Given the description of an element on the screen output the (x, y) to click on. 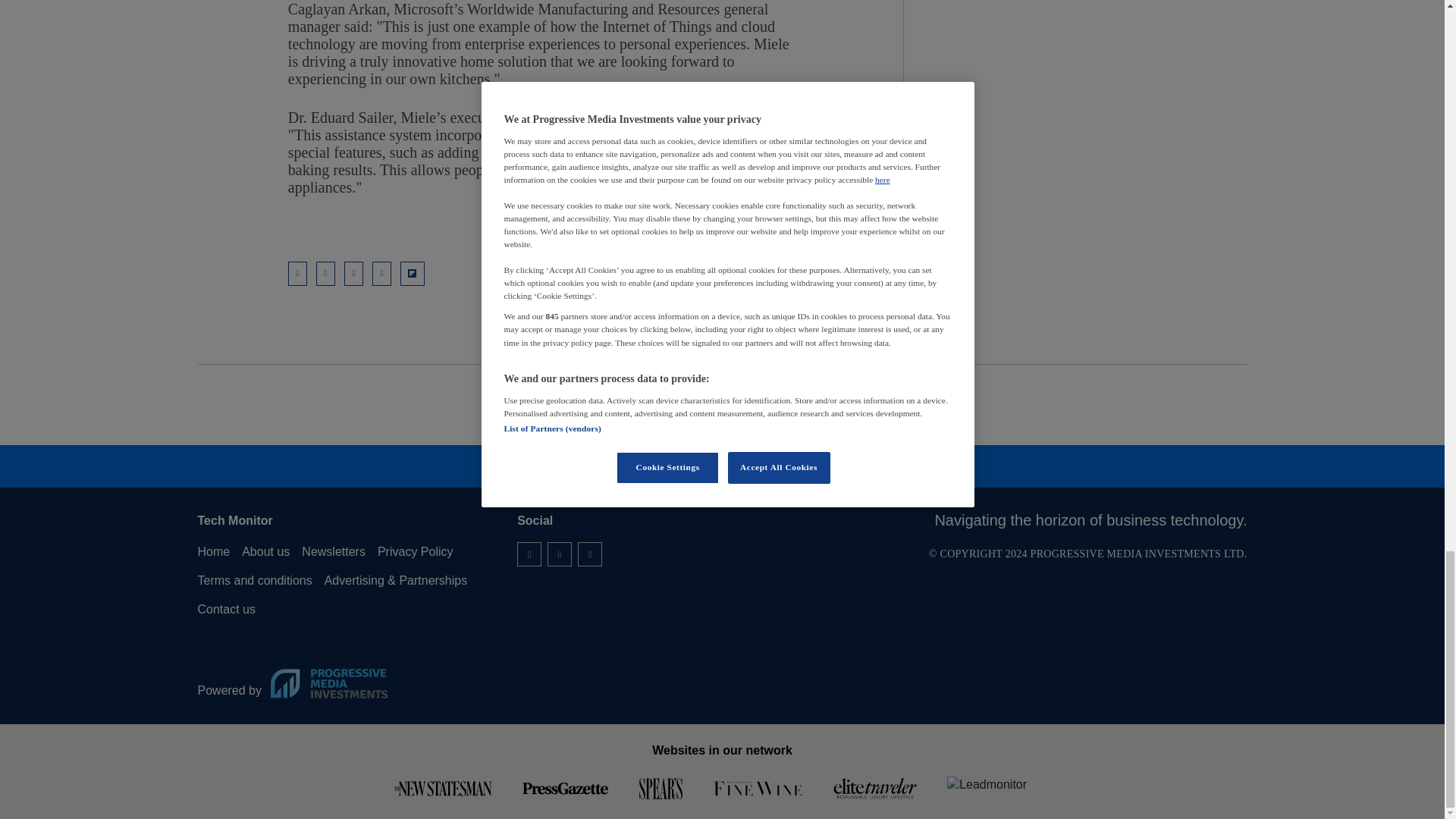
Share on Flipboard (412, 273)
